Given the description of an element on the screen output the (x, y) to click on. 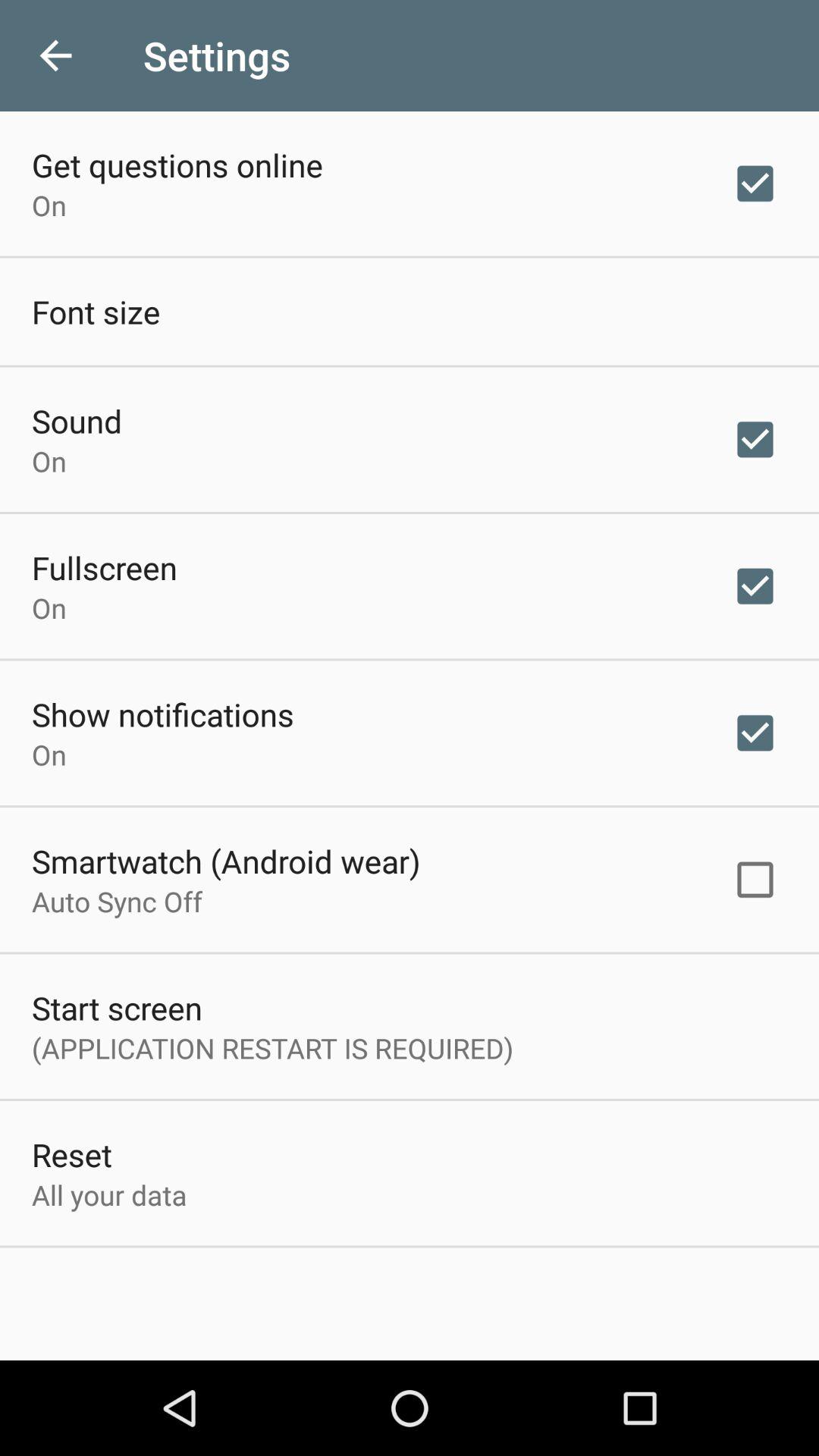
choose item below on (104, 567)
